Given the description of an element on the screen output the (x, y) to click on. 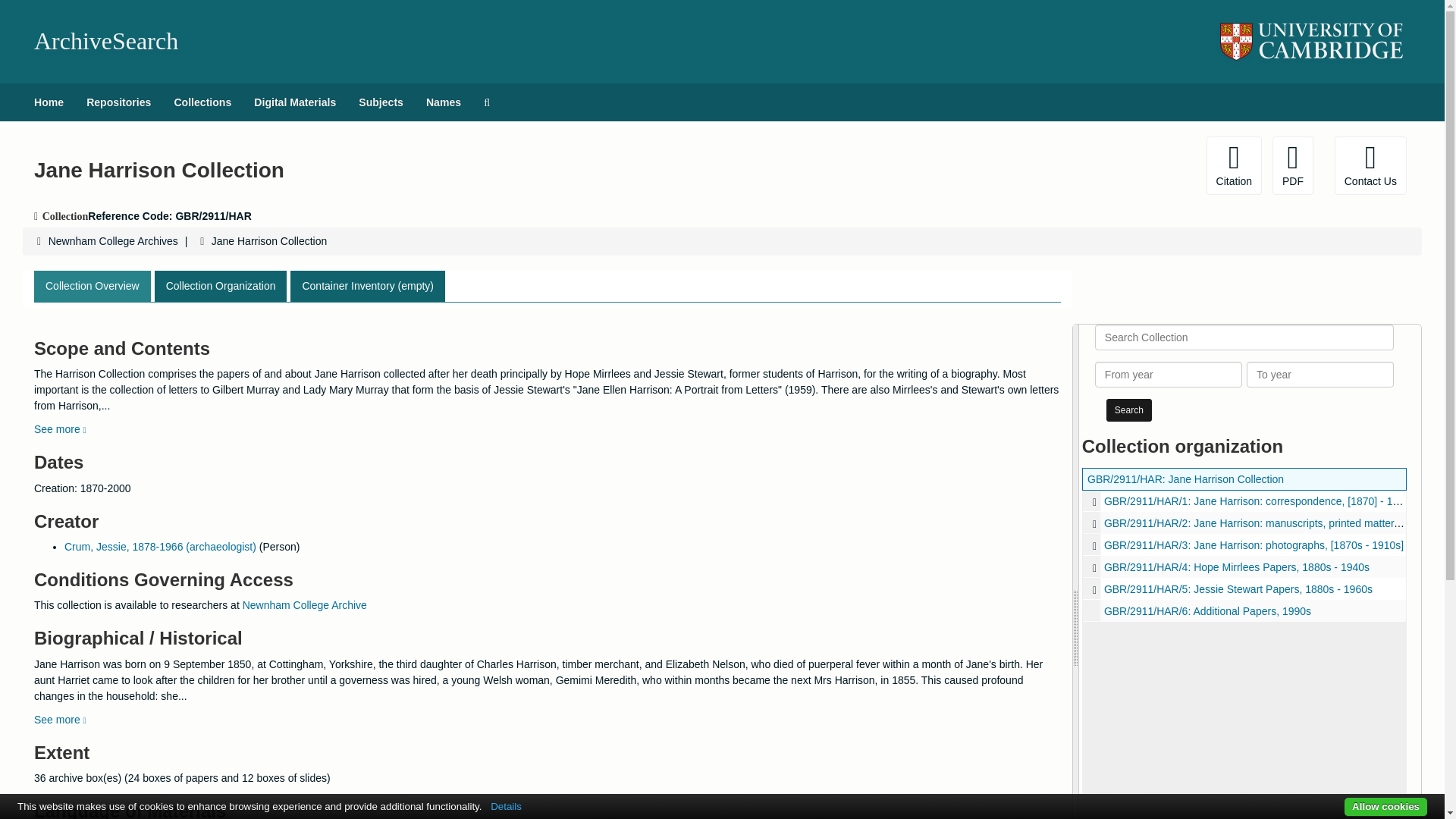
Digital Materials (295, 102)
Contact Us (1370, 165)
Page Actions (1130, 165)
Jane Harrison: photographs (1244, 544)
Subjects (380, 102)
Home (49, 102)
Collection Organization (220, 286)
Search (1128, 409)
Newnham College Archives (112, 241)
Names (442, 102)
